Given the description of an element on the screen output the (x, y) to click on. 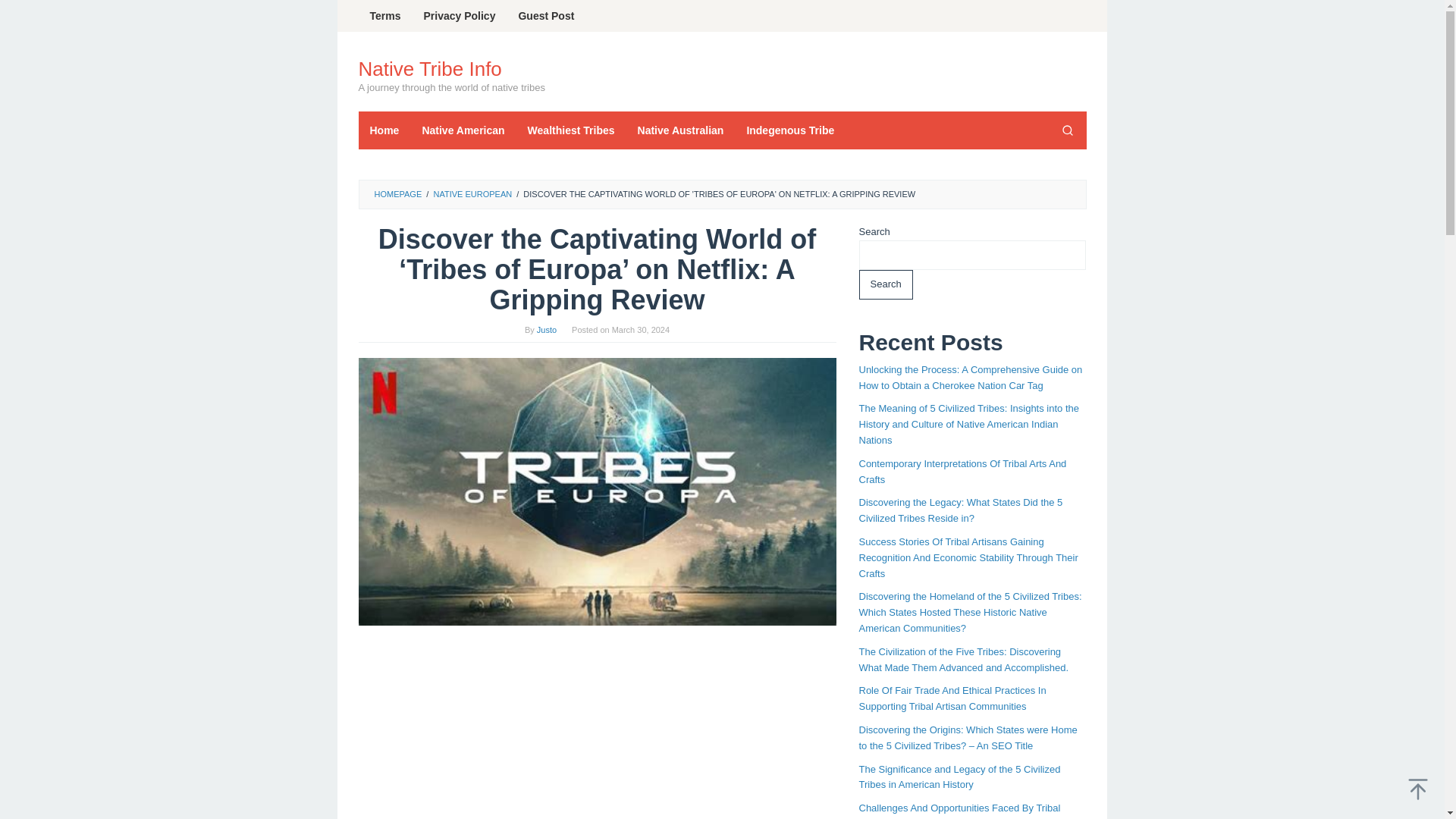
Home (384, 130)
Native Tribe Info (429, 68)
HOMEPAGE (398, 194)
Justo (546, 329)
Wealthiest Tribes (571, 130)
Native Australian (680, 130)
Privacy Policy (459, 15)
Contemporary Interpretations Of Tribal Arts And Crafts (962, 471)
Search (1067, 130)
Guest Post (545, 15)
Permalink to: Justo (546, 329)
